Given the description of an element on the screen output the (x, y) to click on. 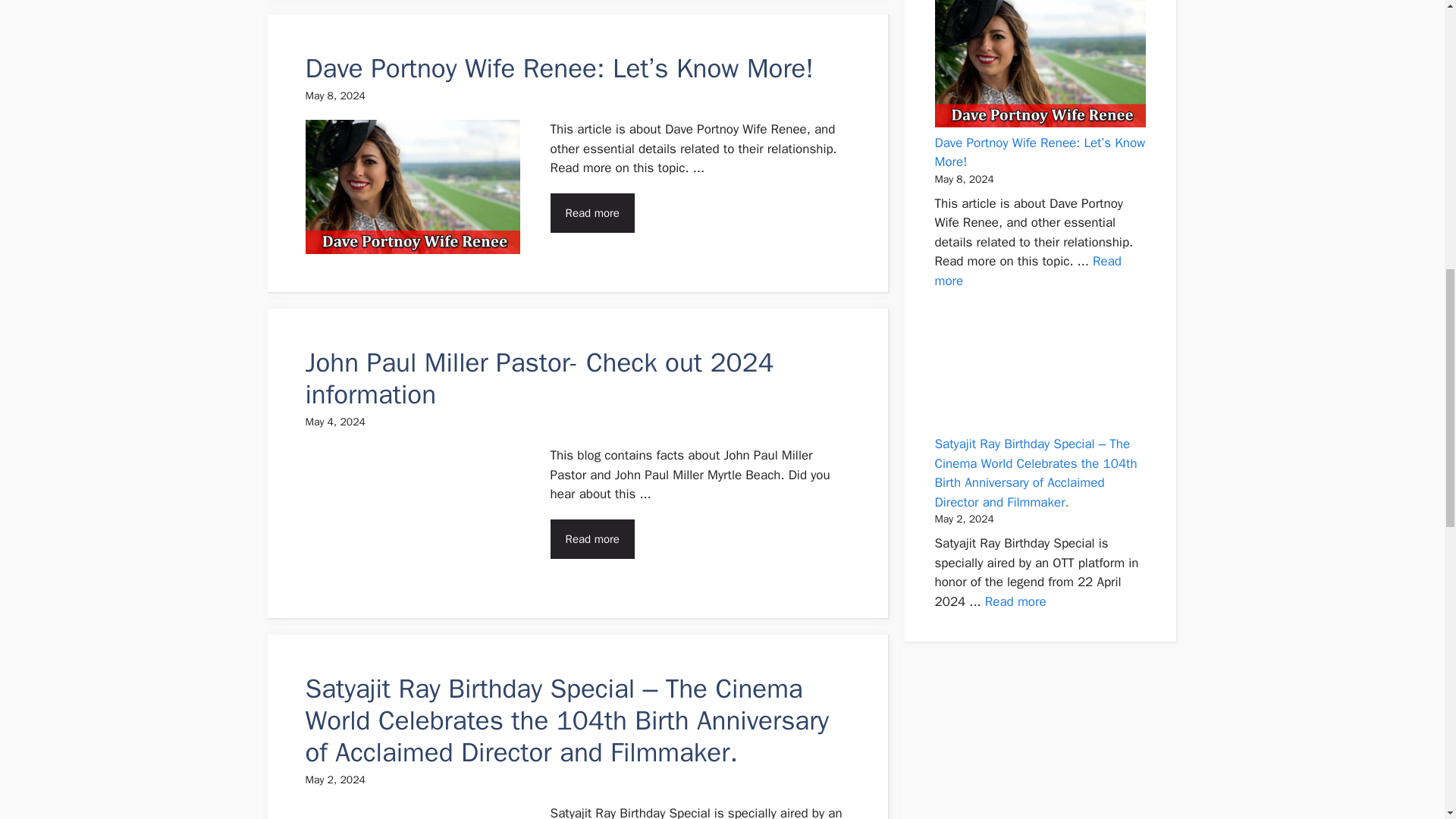
Read more (1027, 271)
Read more (592, 213)
Read more (1015, 601)
John Paul Miller Pastor- Check out 2024 information (538, 378)
Read more (592, 539)
